Given the description of an element on the screen output the (x, y) to click on. 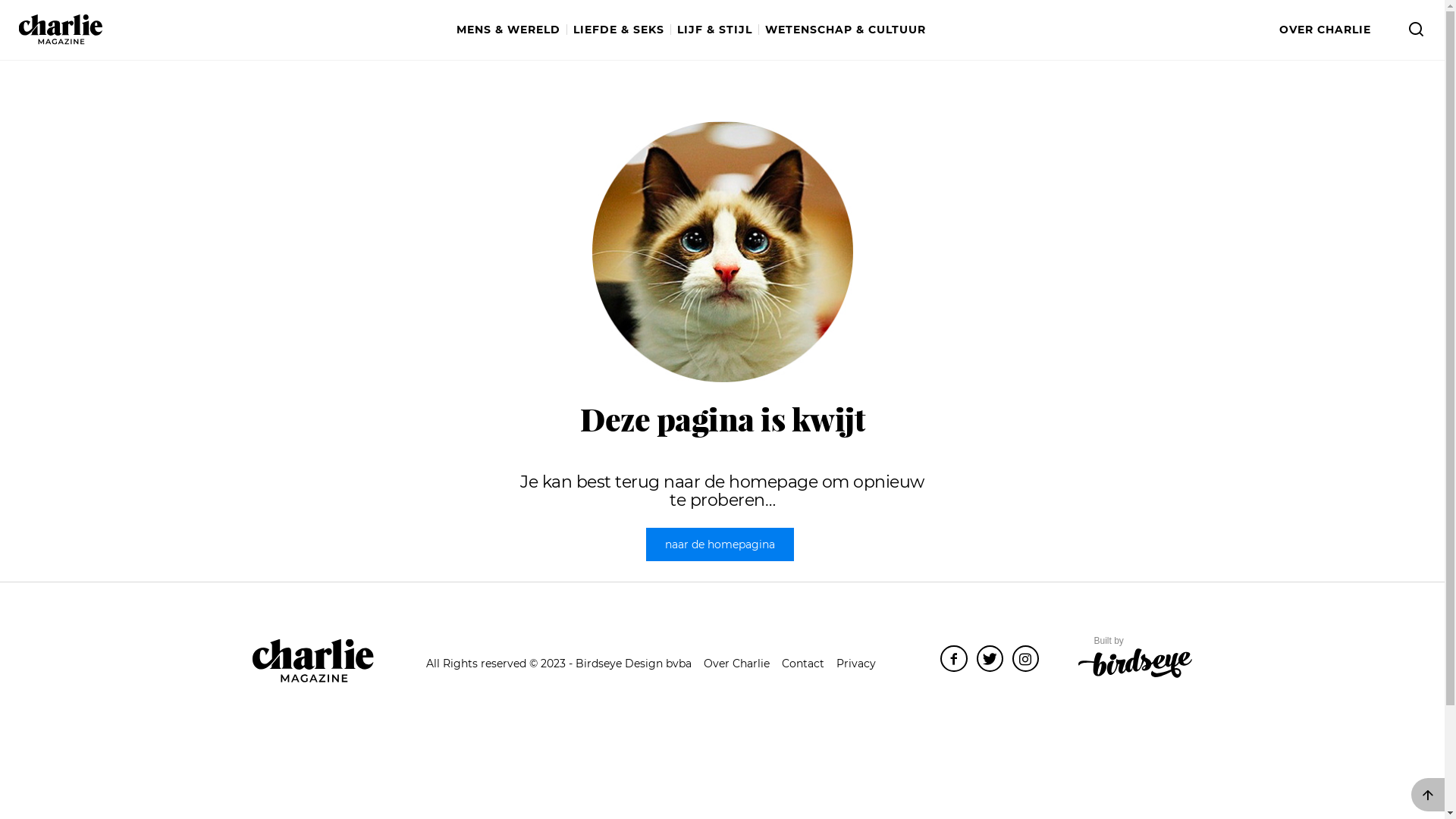
Privacy Element type: text (855, 663)
WETENSCHAP & CULTUUR Element type: text (844, 29)
Charlie magazine Element type: text (312, 660)
MENS & WERELD Element type: text (511, 29)
Charlie magazine Element type: text (60, 29)
naar de homepagina Element type: text (719, 544)
Built by Element type: text (1135, 658)
OVER CHARLIE Element type: text (1325, 29)
LIJF & STIJL Element type: text (717, 29)
LIEFDE & SEKS Element type: text (622, 29)
Over Charlie Element type: text (736, 663)
Contact Element type: text (802, 663)
